Given the description of an element on the screen output the (x, y) to click on. 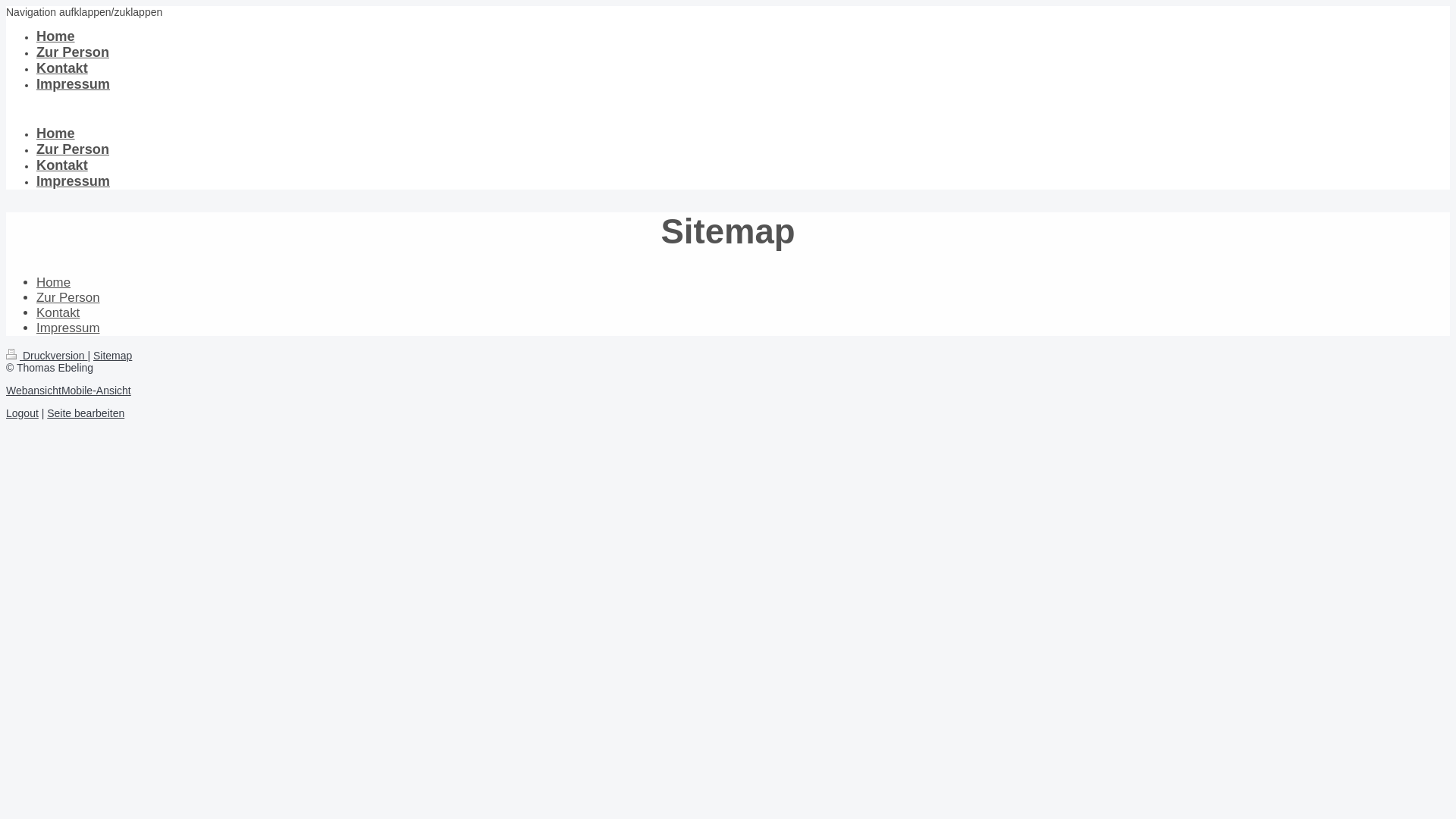
Home Element type: text (55, 35)
Impressum Element type: text (72, 180)
Zur Person Element type: text (72, 148)
Seite bearbeiten Element type: text (85, 413)
Home Element type: text (55, 133)
Druckversion Element type: text (46, 355)
Mobile-Ansicht Element type: text (96, 390)
Webansicht Element type: text (33, 390)
Impressum Element type: text (68, 327)
Impressum Element type: text (72, 83)
Navigation aufklappen/zuklappen Element type: text (84, 12)
Sitemap Element type: text (112, 355)
Kontakt Element type: text (61, 67)
Zur Person Element type: text (72, 51)
Kontakt Element type: text (57, 312)
Zur Person Element type: text (68, 297)
Logout Element type: text (22, 413)
Home Element type: text (53, 282)
Kontakt Element type: text (61, 164)
